Given the description of an element on the screen output the (x, y) to click on. 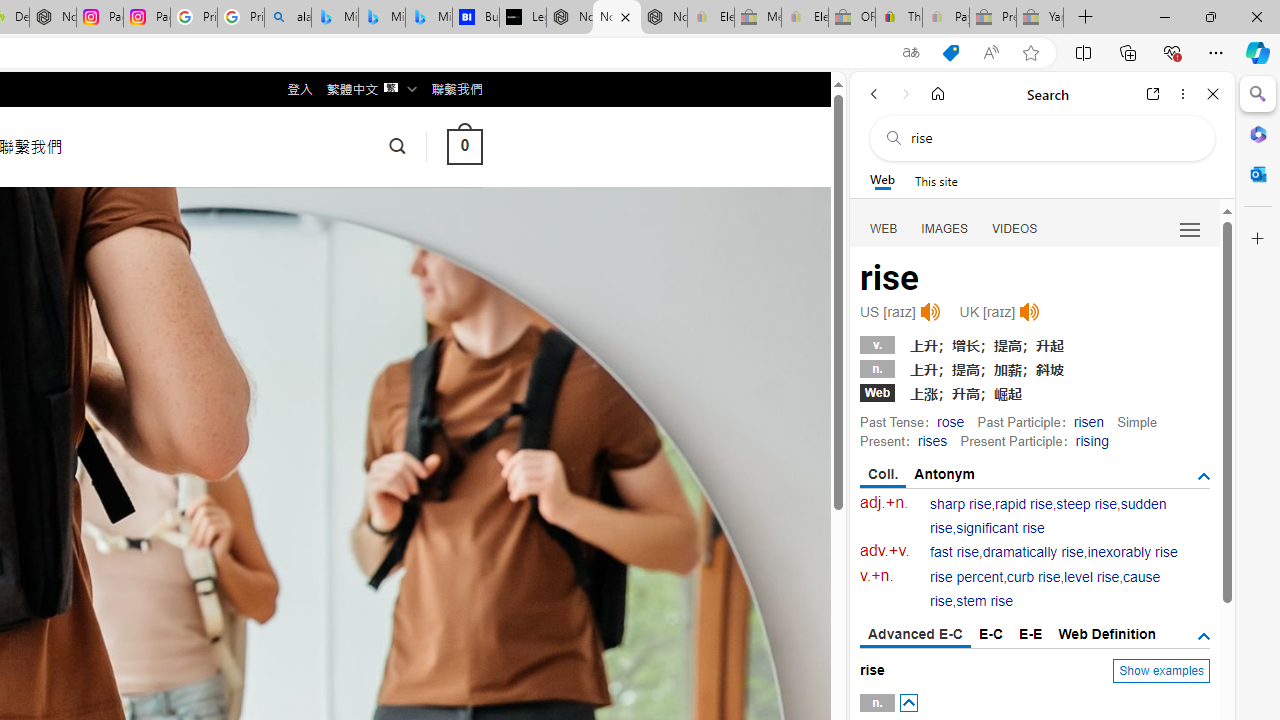
Coll. (883, 475)
fast rise (955, 552)
significant rise (1000, 528)
Threats and offensive language policy | eBay (898, 17)
AutomationID: tgsb (1203, 476)
 0  (464, 146)
